Given the description of an element on the screen output the (x, y) to click on. 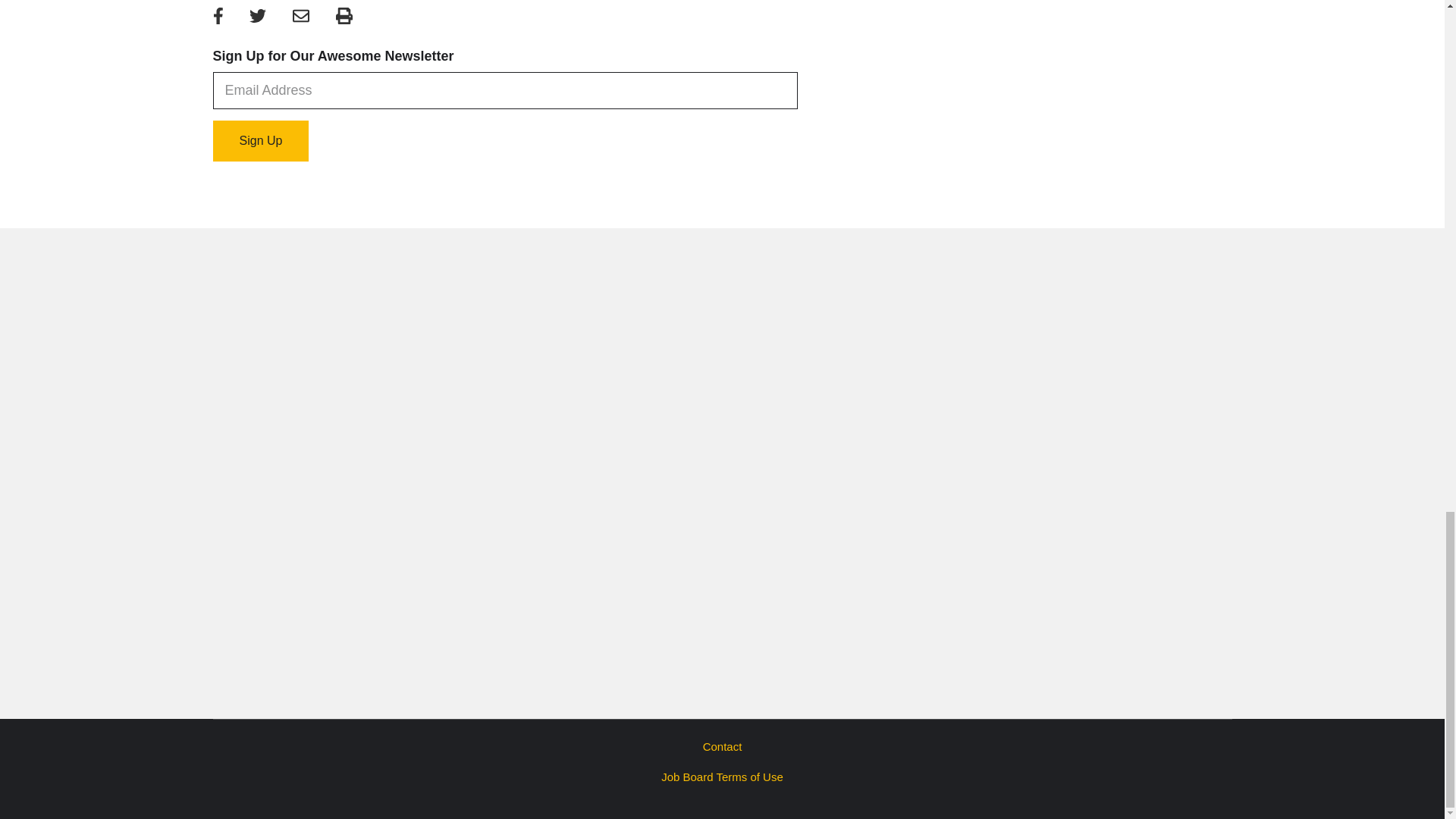
Sign Up (260, 140)
